Given the description of an element on the screen output the (x, y) to click on. 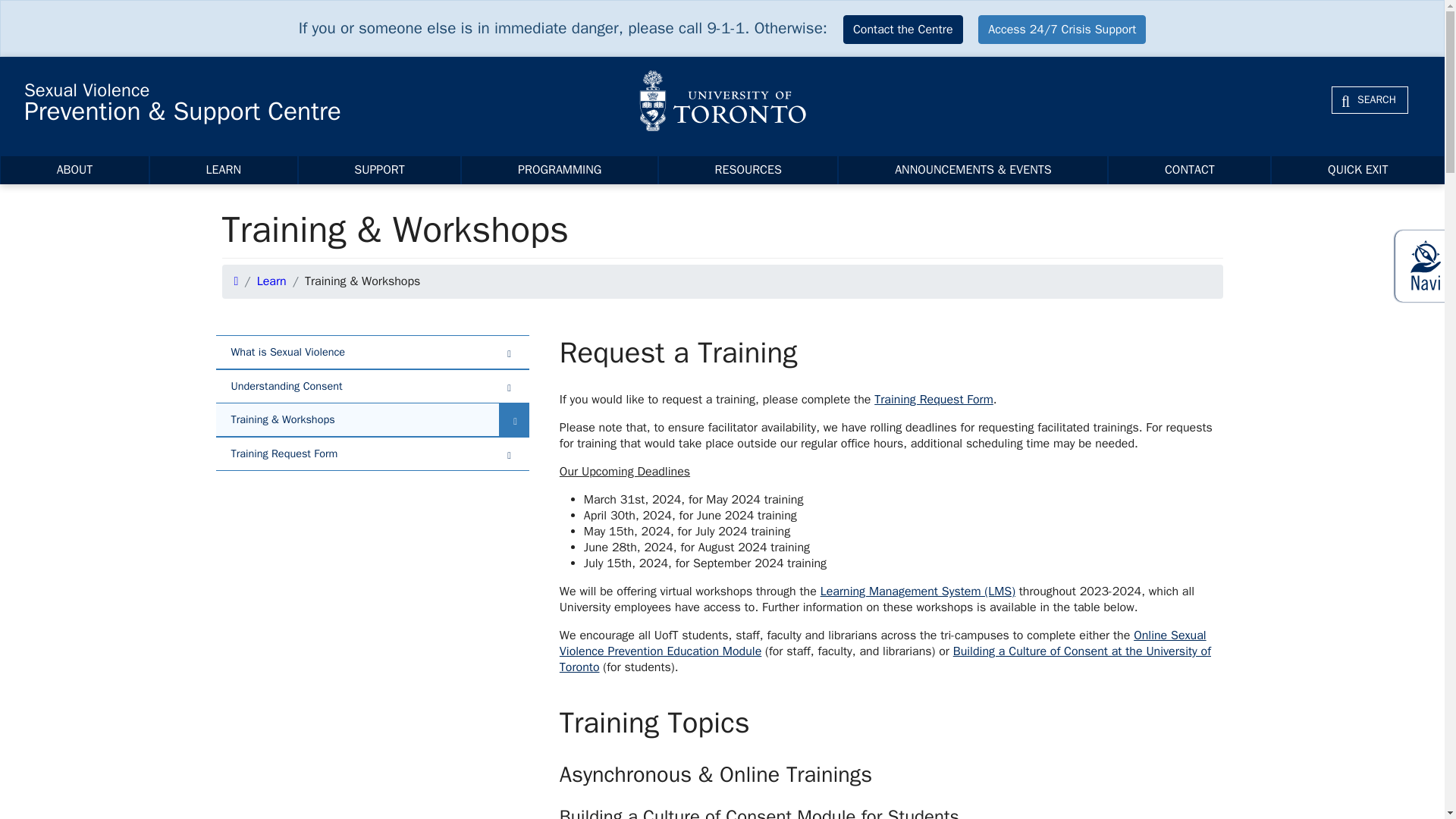
RESOURCES (748, 170)
Go to U of T homepage (722, 99)
Contact the Centre (902, 29)
Go to Learn. (271, 281)
PROGRAMMING (559, 170)
Learn (271, 281)
LEARN (223, 170)
QUICK EXIT (1357, 170)
Online Sexual Violence Prevention Education Module (883, 643)
What is Sexual Violence (371, 351)
